Given the description of an element on the screen output the (x, y) to click on. 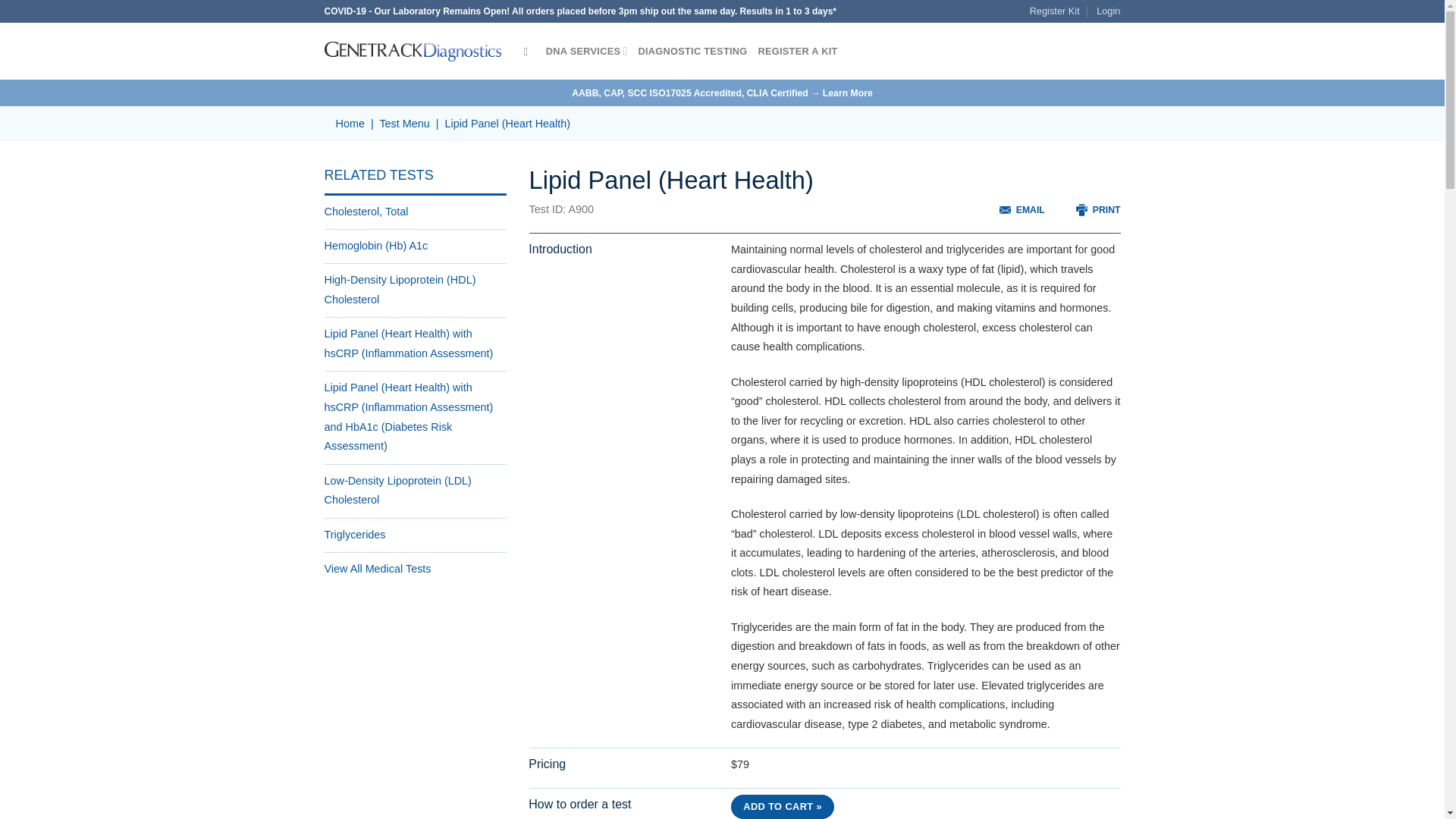
Register Kit (1054, 11)
DNA SERVICES (586, 51)
Login (1107, 11)
